Given the description of an element on the screen output the (x, y) to click on. 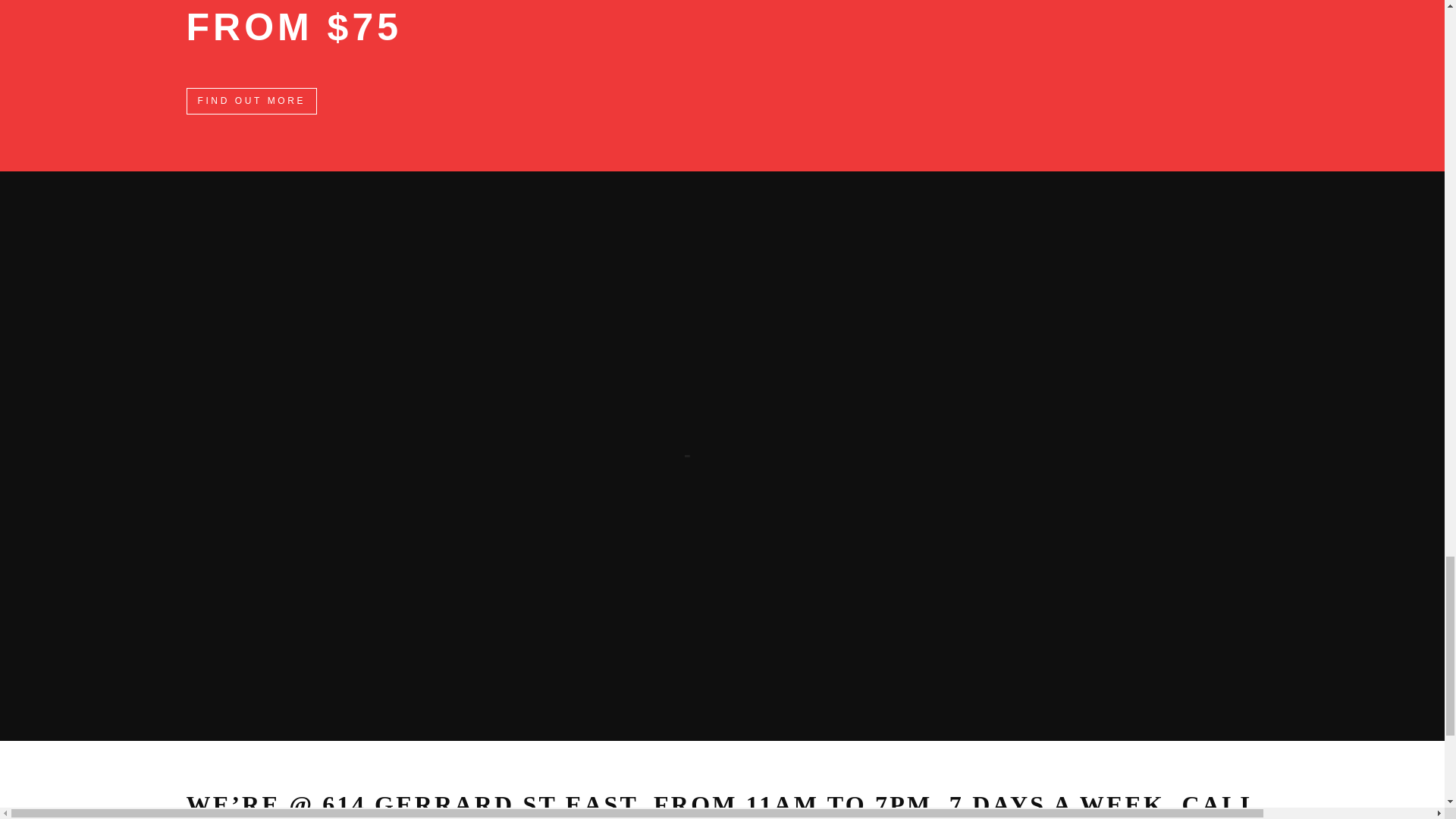
FIND OUT MORE (251, 100)
